Given the description of an element on the screen output the (x, y) to click on. 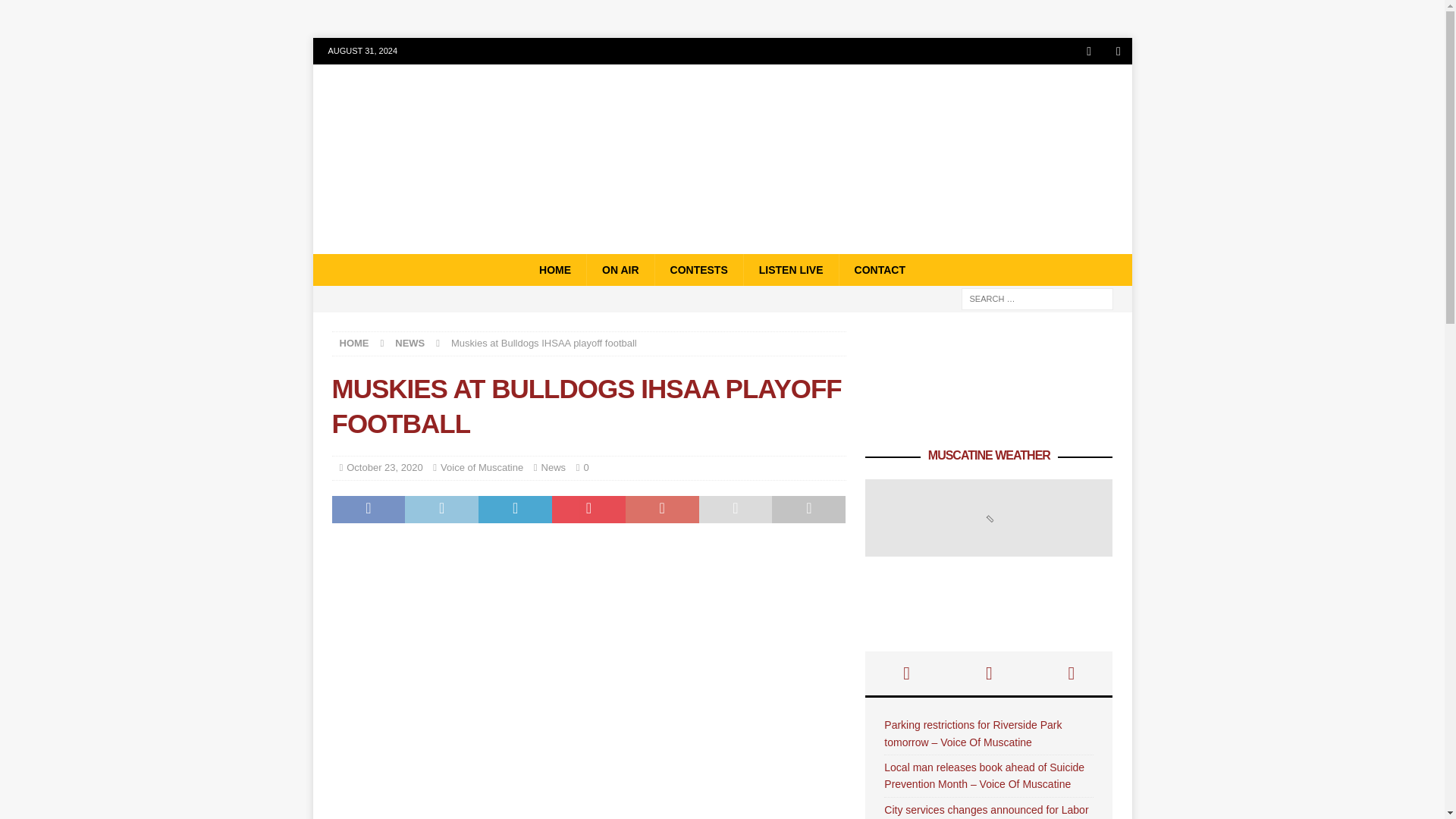
HOME (555, 269)
CONTESTS (697, 269)
LISTEN LIVE (790, 269)
NEWS (409, 342)
News (553, 467)
93.1 The Buzz (722, 245)
CONTACT (879, 269)
HOME (354, 342)
Search (56, 11)
ON AIR (619, 269)
